Given the description of an element on the screen output the (x, y) to click on. 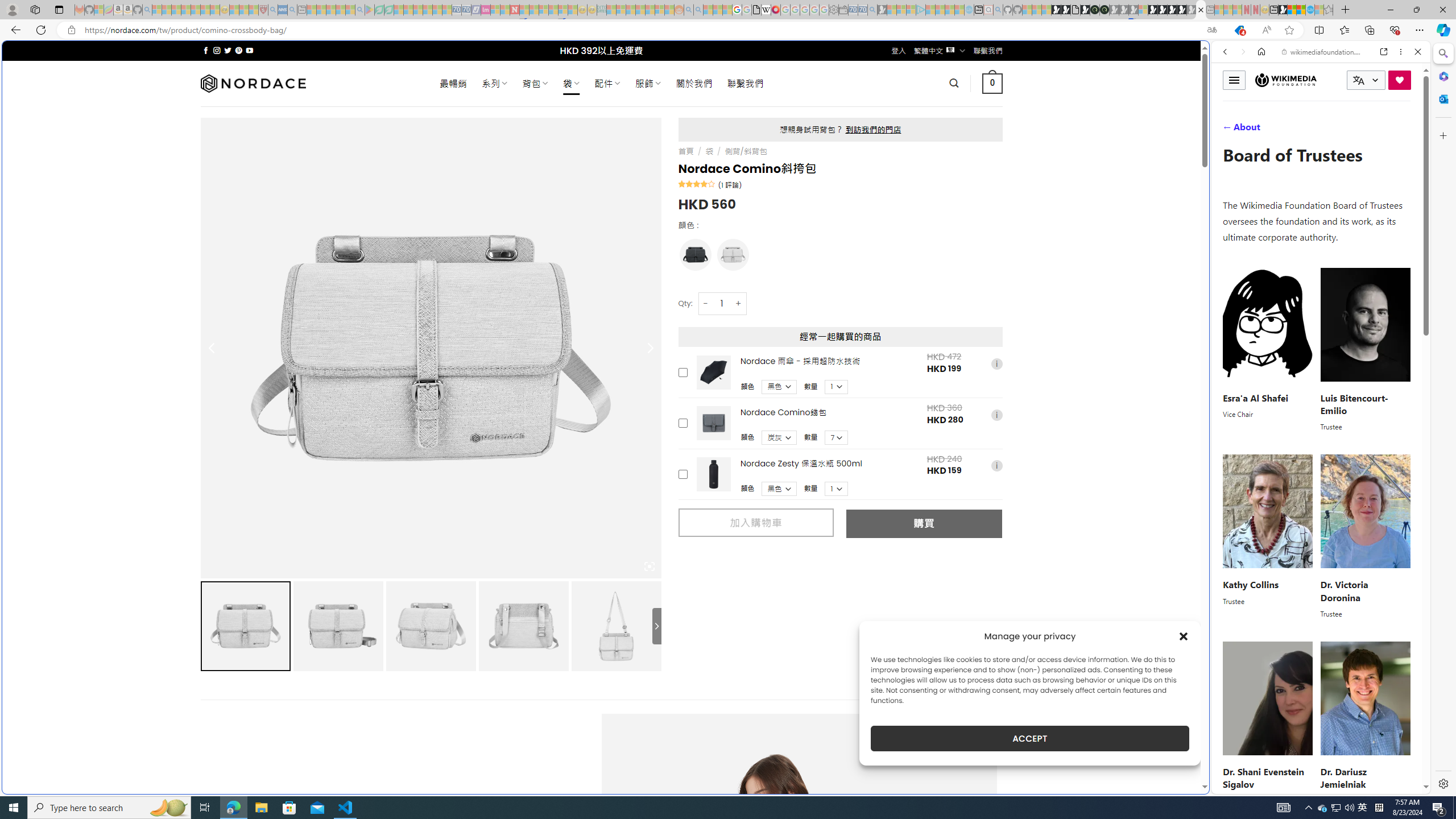
i (996, 465)
